Given the description of an element on the screen output the (x, y) to click on. 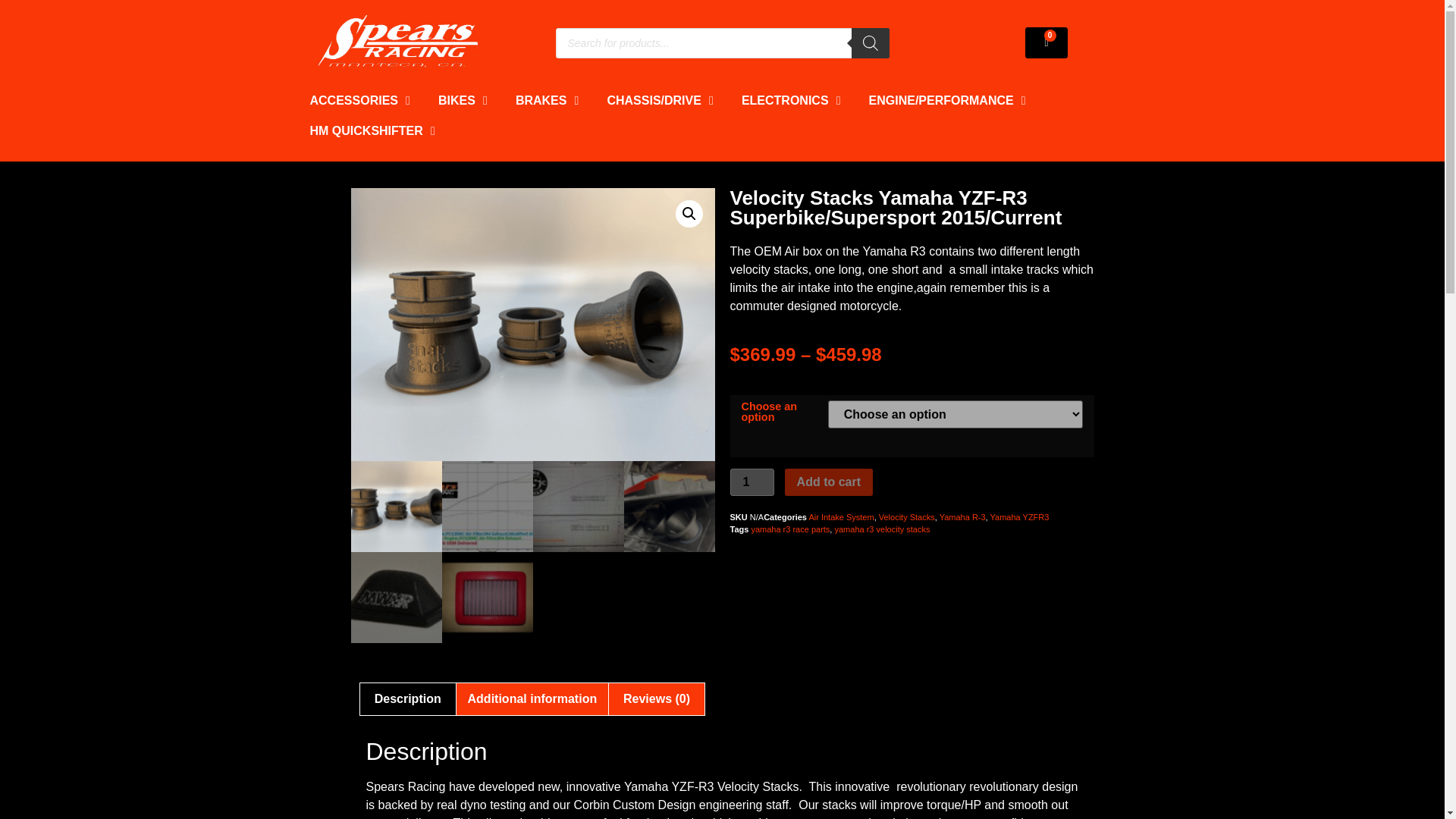
BIKES (457, 100)
ACCESSORIES (352, 100)
0 (1046, 42)
BRAKES (541, 100)
1 (751, 482)
